Given the description of an element on the screen output the (x, y) to click on. 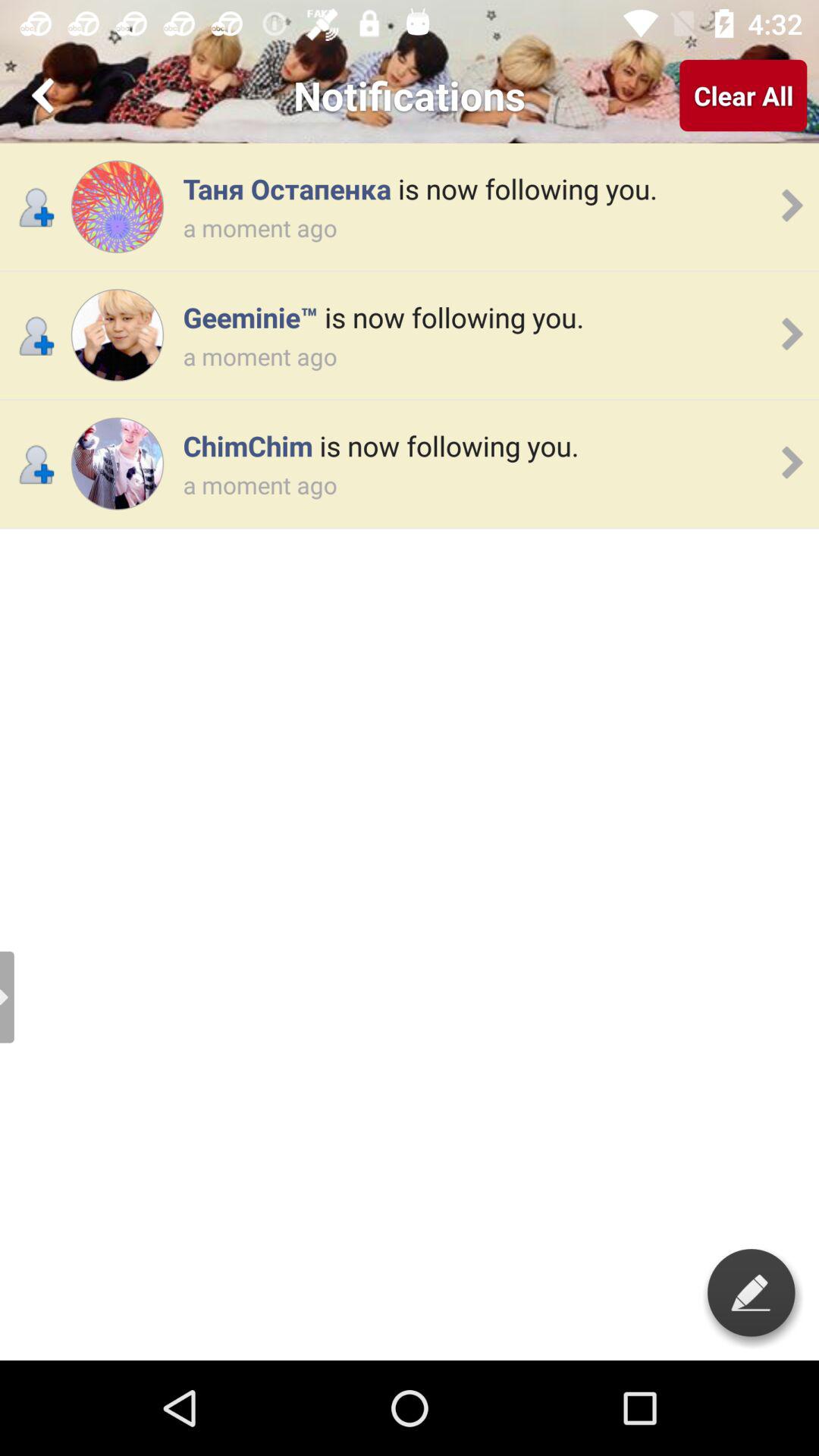
see profile (117, 335)
